Given the description of an element on the screen output the (x, y) to click on. 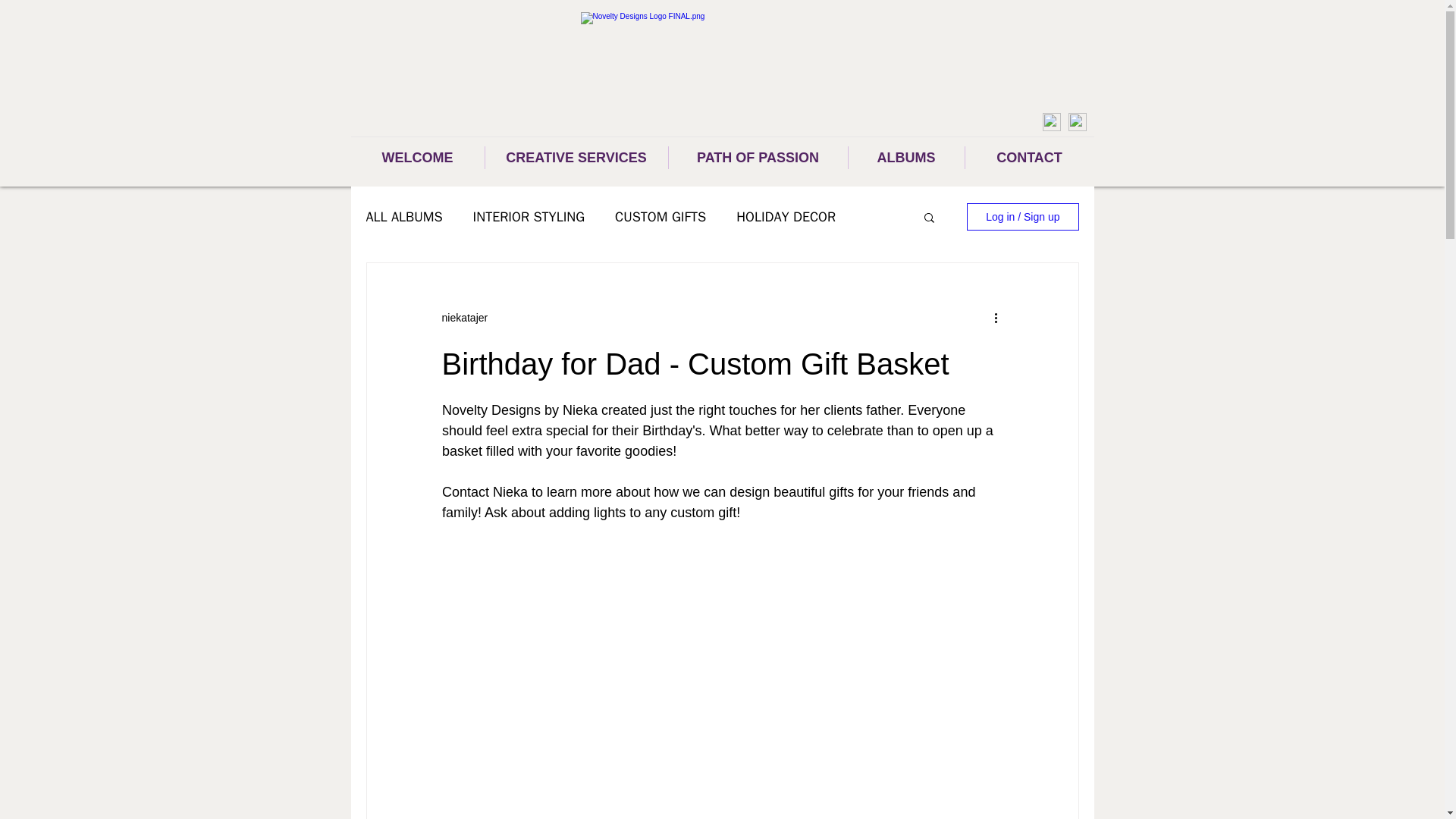
CUSTOM GIFTS (660, 217)
ALL ALBUMS (403, 217)
WELCOME (416, 157)
PATH OF PASSION (757, 157)
CREATIVE SERVICES (576, 157)
ALBUMS (905, 157)
niekatajer (464, 317)
HOLIDAY DECOR (785, 217)
CONTACT (1028, 157)
INTERIOR STYLING (529, 217)
